Given the description of an element on the screen output the (x, y) to click on. 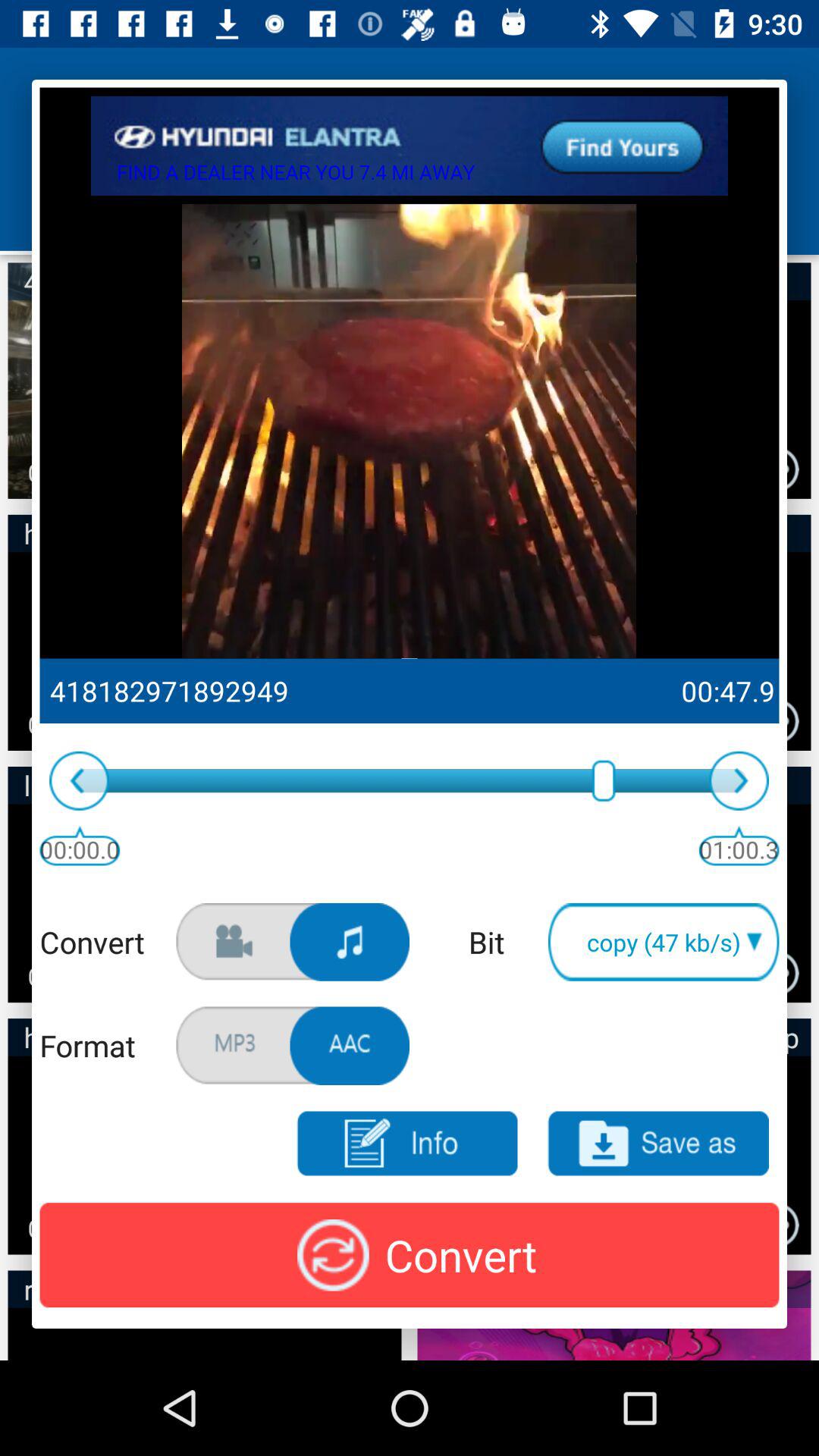
click to enable format mode (349, 1045)
